Given the description of an element on the screen output the (x, y) to click on. 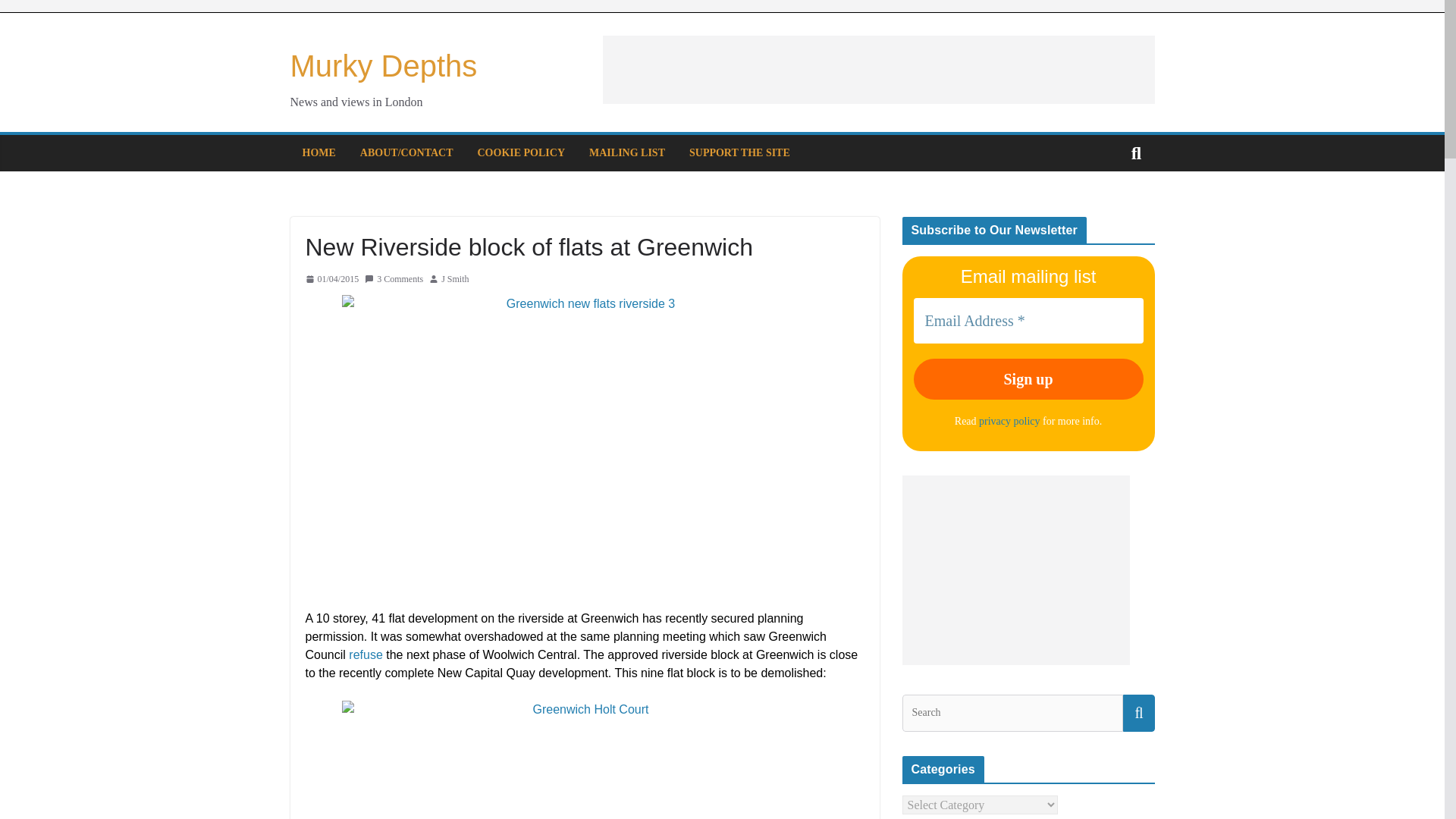
MAILING LIST (627, 152)
J Smith (454, 278)
Murky Depths (383, 65)
COOKIE POLICY (521, 152)
J Smith (454, 278)
refuse (365, 654)
3 Comments (394, 278)
HOME (317, 152)
Sign up (1027, 378)
Murky Depths (383, 65)
